Given the description of an element on the screen output the (x, y) to click on. 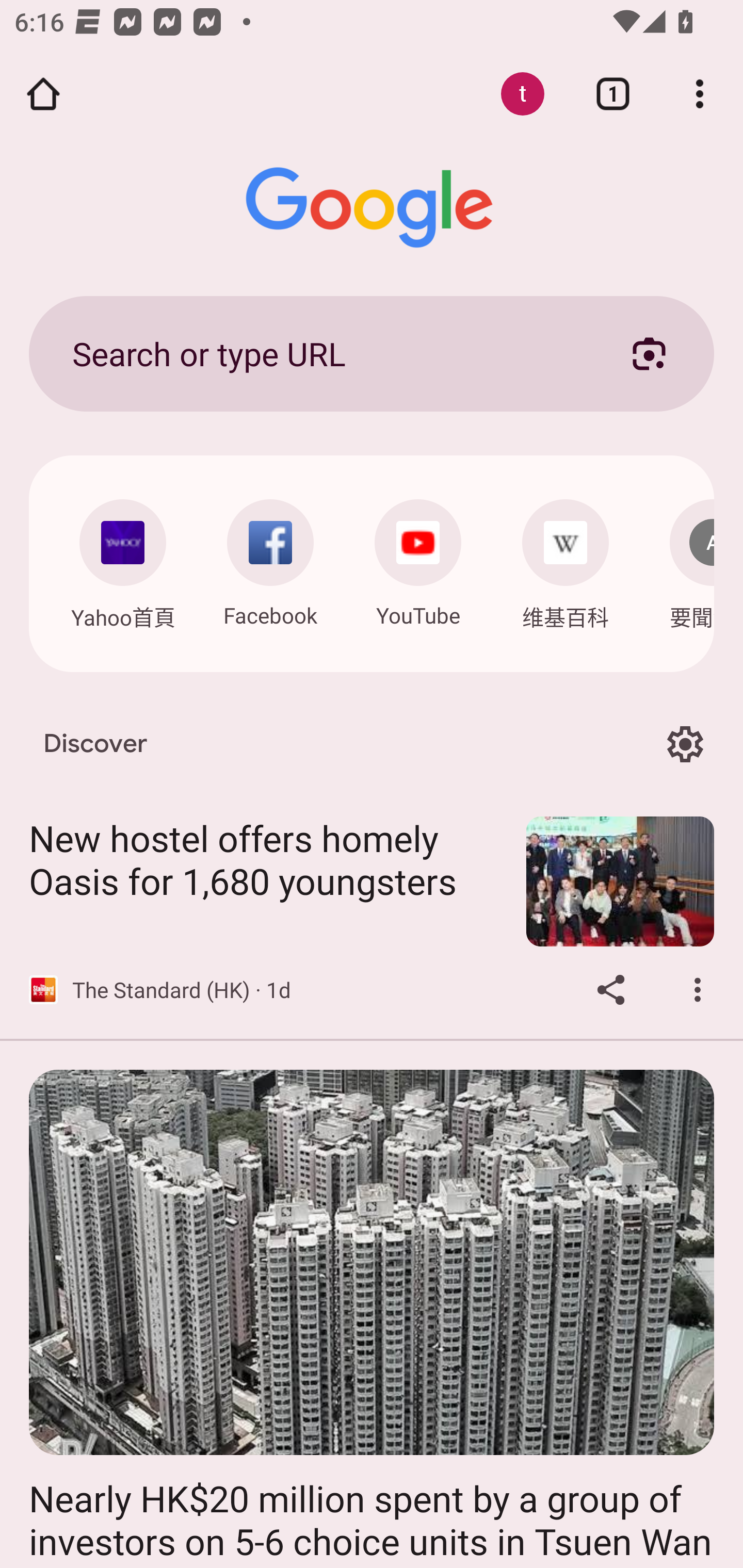
Open the home page (43, 93)
Switch or close tabs (612, 93)
Customize and control Google Chrome (699, 93)
Search or type URL (327, 353)
Search with your camera using Google Lens (648, 353)
Navigate: Yahoo首頁: hk.mobi.yahoo.com Yahoo首頁 (122, 558)
Navigate: Facebook: m.facebook.com Facebook (270, 558)
Navigate: YouTube: m.youtube.com YouTube (417, 558)
Navigate: 维基百科: zh.m.wikipedia.org 维基百科 (565, 558)
Options for Discover (684, 743)
